Given the description of an element on the screen output the (x, y) to click on. 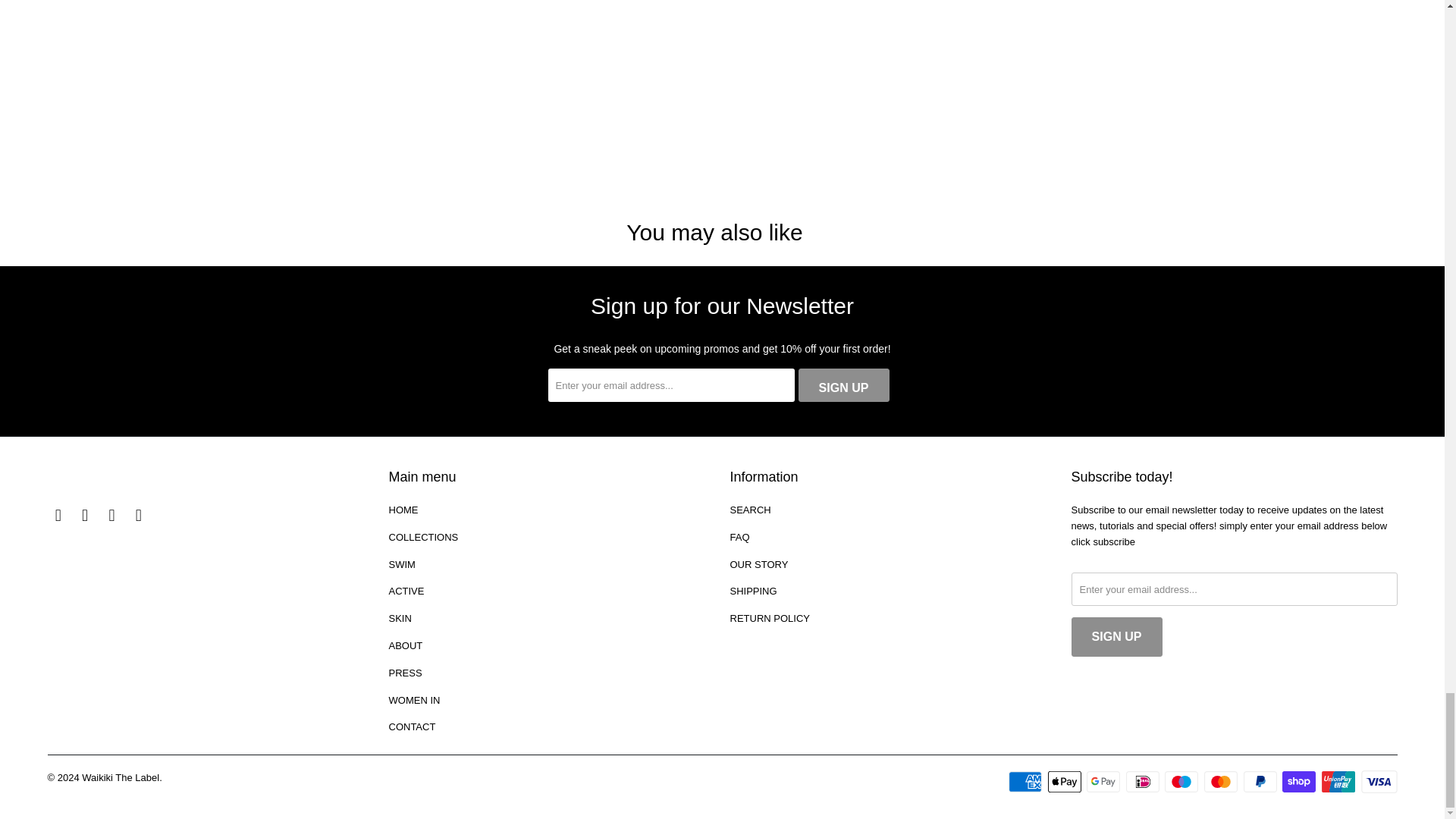
Visa (1377, 781)
PayPal (1261, 781)
Email Waikiki The Label (138, 515)
Shop Pay (1300, 781)
Waikiki The Label on Pinterest (85, 515)
iDEAL (1143, 781)
Maestro (1182, 781)
Apple Pay (1066, 781)
Mastercard (1222, 781)
Google Pay (1104, 781)
Union Pay (1340, 781)
American Express (1027, 781)
Waikiki The Label on Facebook (57, 515)
Sign Up (842, 385)
Waikiki The Label on Instagram (111, 515)
